Given the description of an element on the screen output the (x, y) to click on. 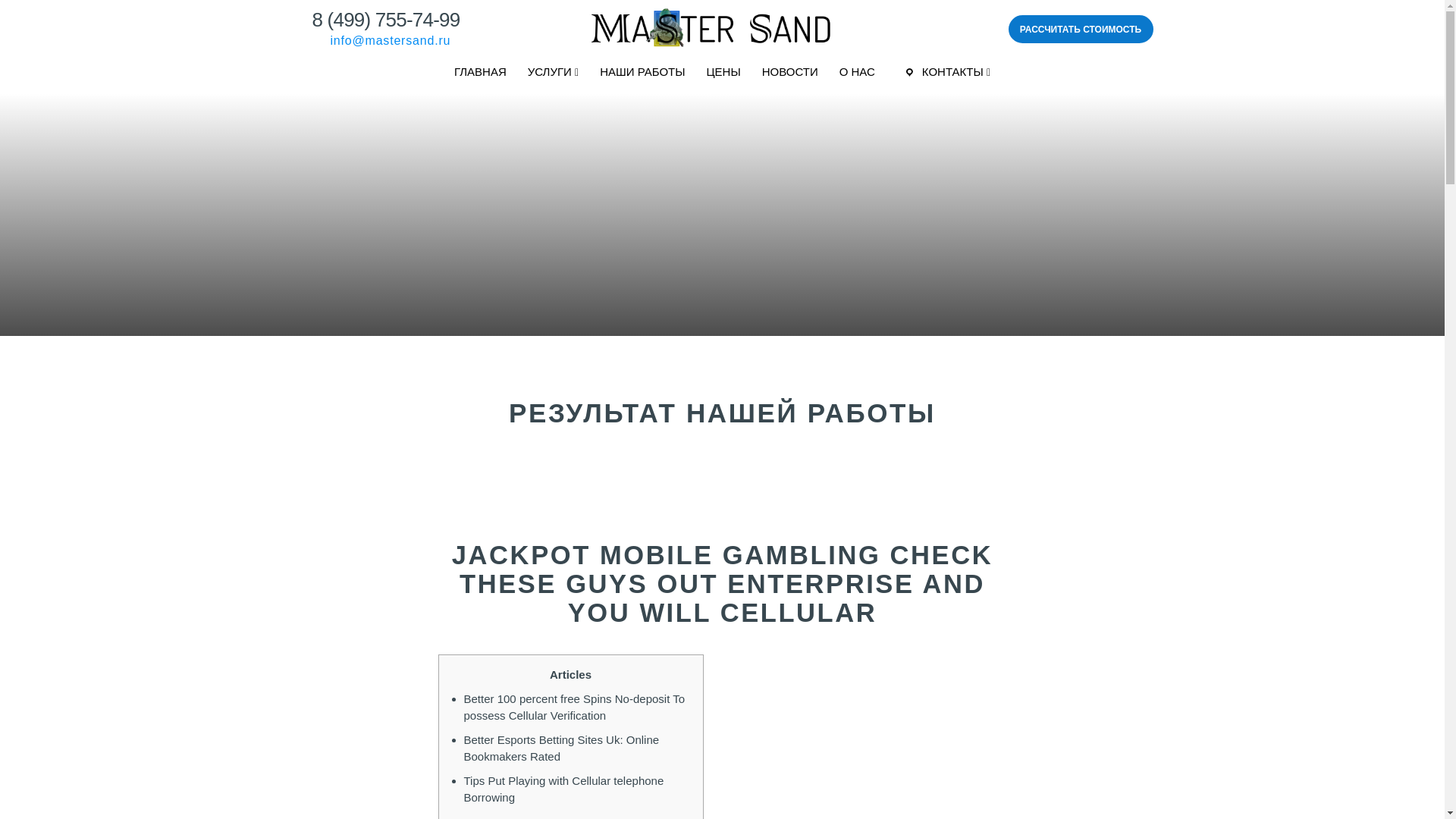
Better Esports Betting Sites Uk: Online Bookmakers Rated (561, 747)
Tips Put Playing with Cellular telephone Borrowing (563, 788)
